Given the description of an element on the screen output the (x, y) to click on. 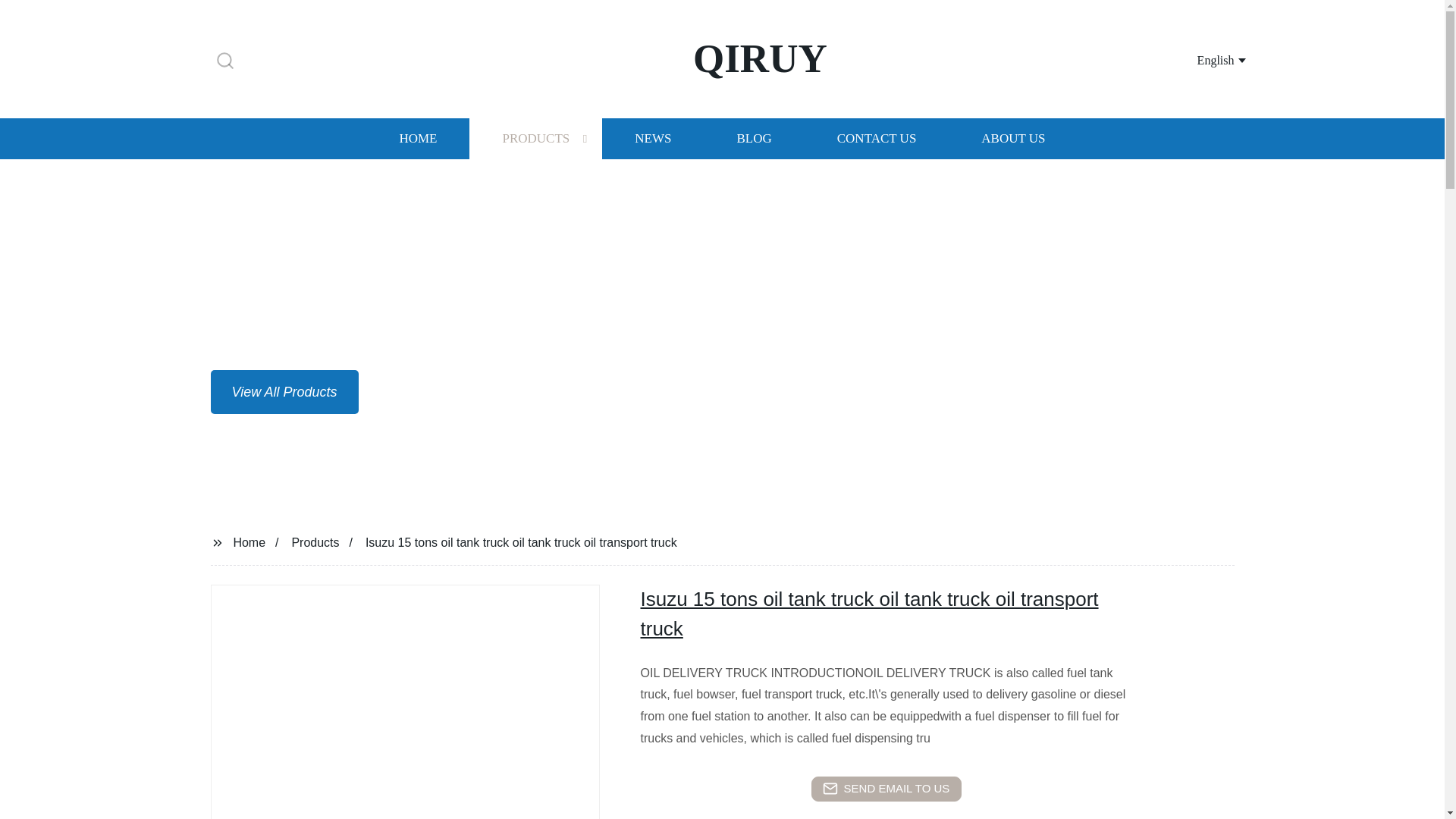
Home (248, 541)
English (1203, 59)
NEWS (1013, 137)
HOME (652, 137)
Products (885, 788)
English (417, 137)
